Given the description of an element on the screen output the (x, y) to click on. 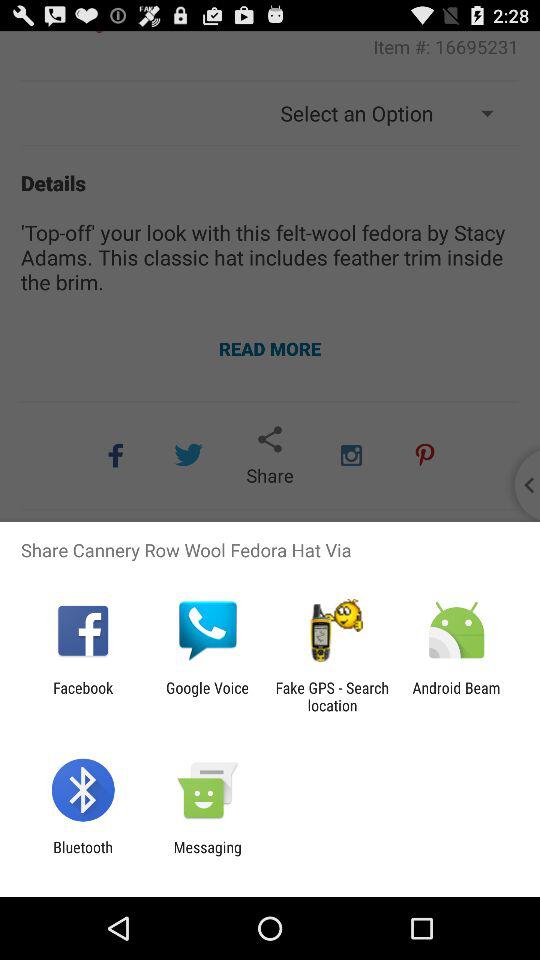
select the app next to facebook item (207, 696)
